Given the description of an element on the screen output the (x, y) to click on. 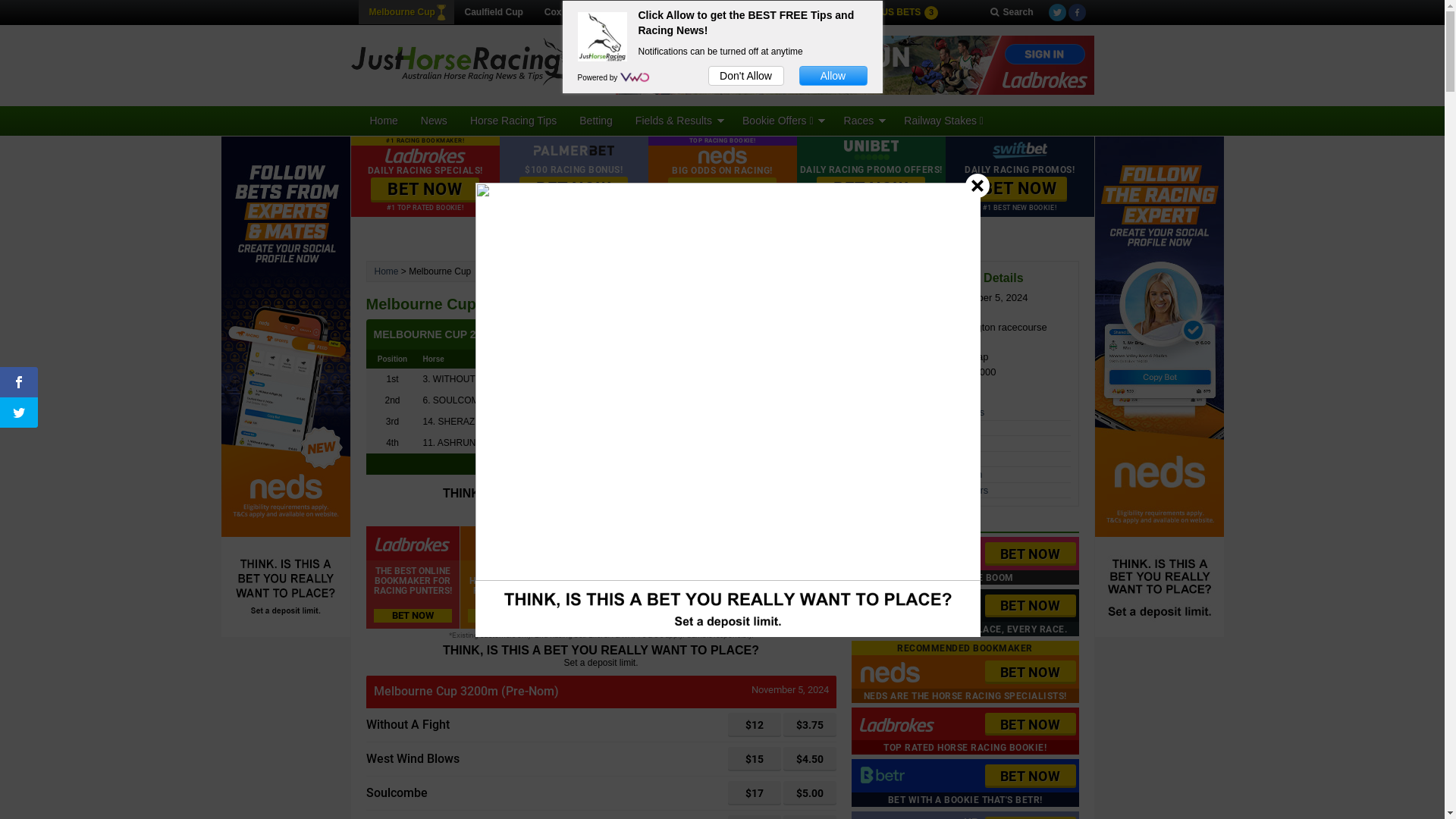
News Element type: text (433, 120)
$4.50 Element type: text (808, 758)
$3.75 Element type: text (808, 724)
$5.00 Element type: text (808, 793)
Horse Racing Tips Element type: text (512, 120)
BET NOW Element type: text (722, 189)
Melbourne Cup Nominations Element type: text (922, 411)
Melbourne Cup Information Element type: text (919, 458)
BET NOW Element type: text (870, 188)
BET NOW Element type: text (1029, 553)
HOME OF THE HOTTEST RACING PRODUCTS FOR PUNTERS!
BET NOW Element type: text (505, 577)
$4.50 Element type: text (808, 759)
$5.00 Element type: text (808, 793)
Don't Allow Element type: text (746, 75)
Betting Element type: text (595, 120)
BET NOW
BET WITH A BOOKIE THAT'S BETR! Element type: text (964, 782)
Powered by Element type: text (598, 77)
BET NOW Element type: text (1029, 775)
BET NOW Element type: text (1029, 672)
THE BEST ONLINE BOOKMAKER FOR RACING PUNTERS!
BET NOW Element type: text (411, 577)
$17 Element type: text (754, 793)
Fields & Results Element type: text (677, 120)
Allow Element type: text (833, 75)
Melbourne Cup Odds Element type: text (906, 427)
Melbourne Cup Past Winners Element type: text (923, 489)
BET NOW Element type: text (1019, 188)
$3.75 Element type: text (808, 724)
BET NOW
GET IN ON THE BOOM Element type: text (964, 560)
$12 Element type: text (754, 724)
BET NOW
TOP 4 BETTING. EXTRA PLACE, EVERY RACE. Element type: text (964, 613)
Melbourne Cup Offers Element type: text (908, 442)
Close Element type: hover (977, 184)
Races Element type: text (862, 120)
$15 Element type: text (754, 758)
FULL RESULTS Element type: text (600, 463)
BET NOW Element type: text (1029, 724)
Melbourne Cup Live Stream Element type: text (920, 474)
Home Element type: text (382, 120)
BET NOW Element type: text (573, 188)
CLAIM A RACING BET BONUS UP TO $200!
BET NOW Element type: text (787, 577)
$15 Element type: text (754, 759)
advertisement Element type: hover (854, 64)
Home Element type: text (386, 271)
BET NOW Element type: text (1029, 606)
BET NOW Element type: text (424, 189)
$12 Element type: text (754, 724)
$17 Element type: text (754, 793)
BET NOW
TOP RATED HORSE RACING BOOKIE! Element type: text (964, 731)
